Given the description of an element on the screen output the (x, y) to click on. 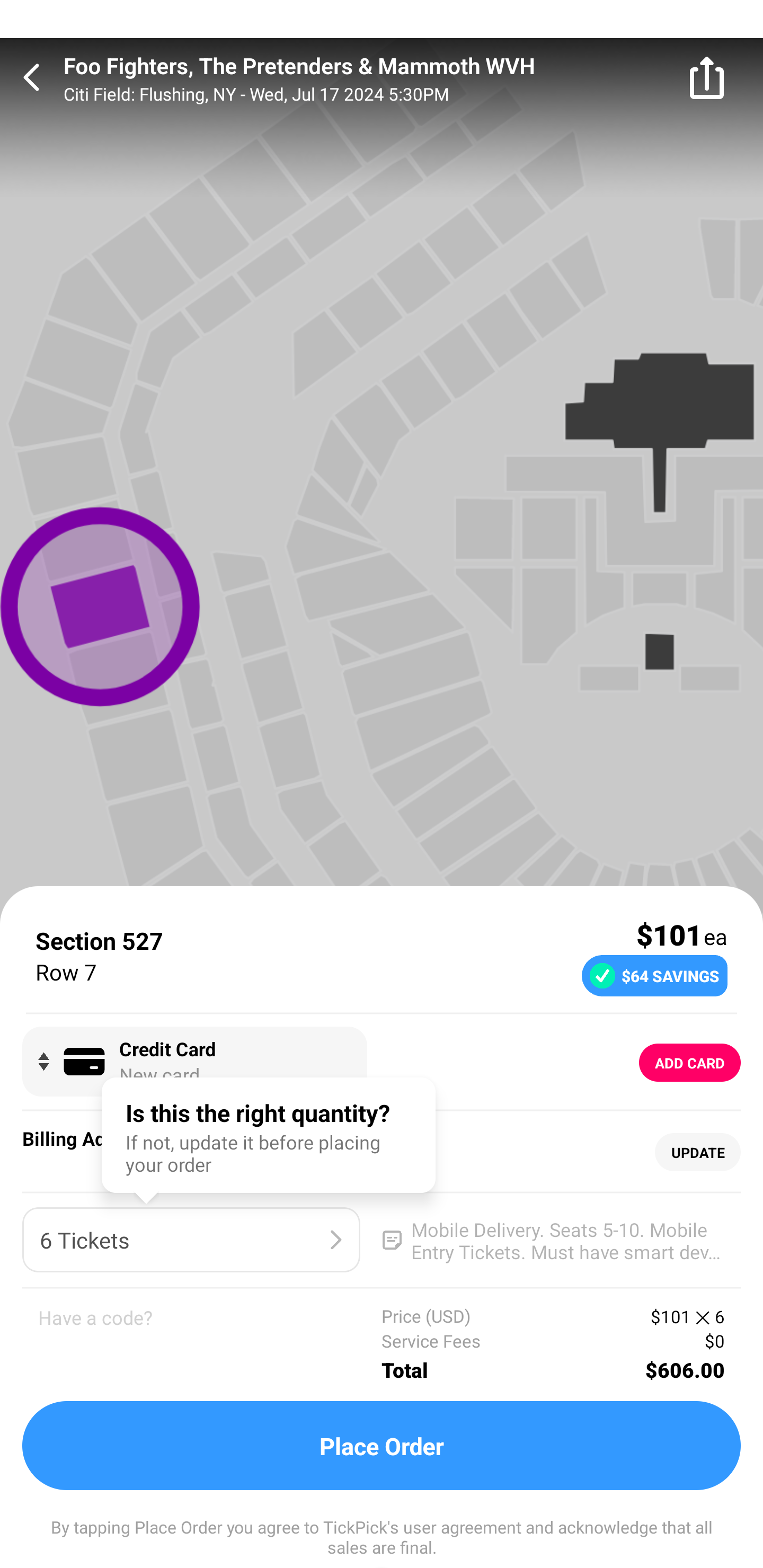
$64 SAVINGS (654, 974)
Credit Card, New card Credit Card New card (194, 1061)
ADD CARD (689, 1062)
UPDATE (697, 1152)
6 Tickets (191, 1239)
Have a code? (209, 1344)
Place Order (381, 1445)
